Given the description of an element on the screen output the (x, y) to click on. 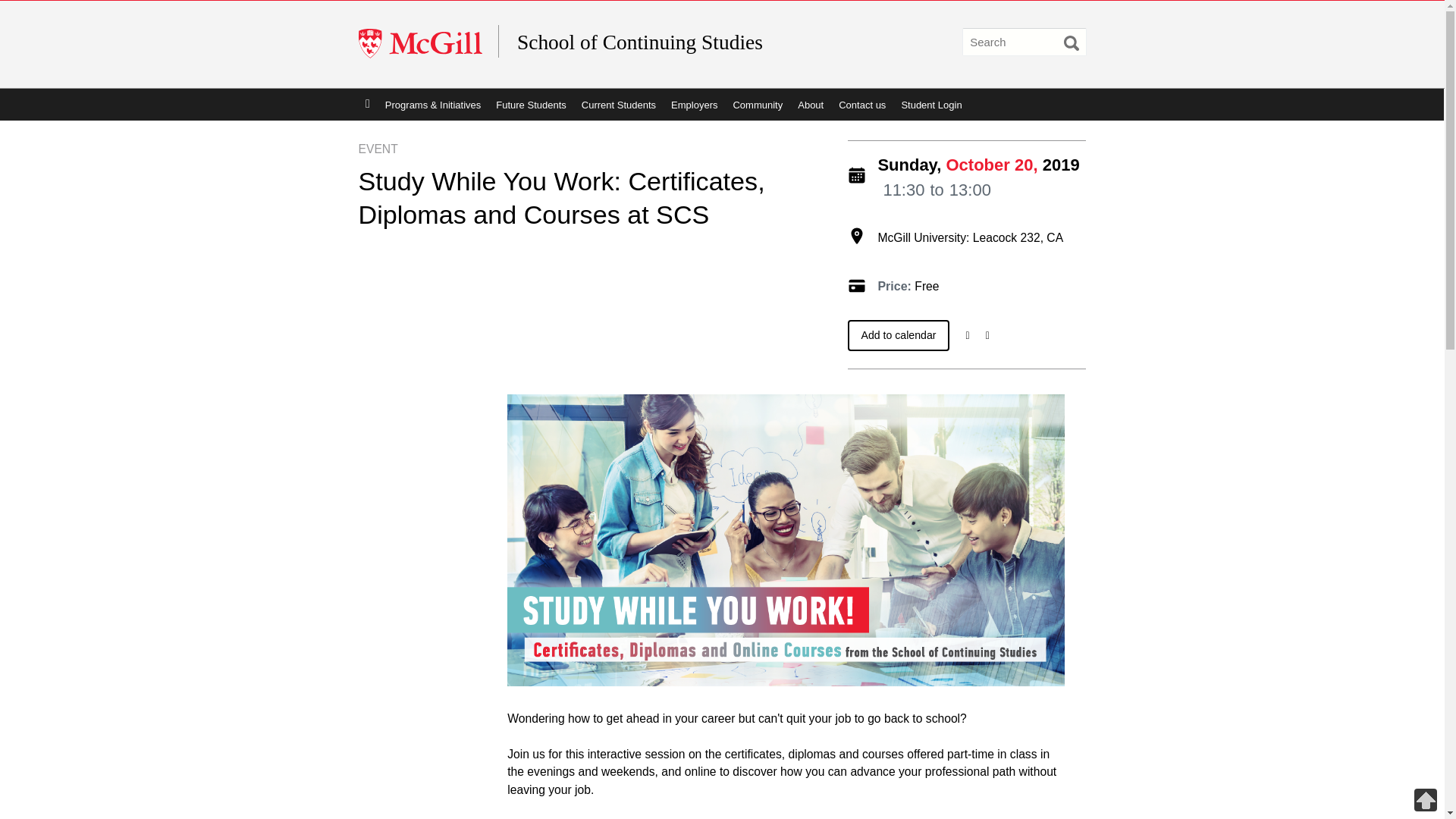
Community (757, 104)
School of Continuing Studies (664, 42)
return to McGill University (427, 44)
Search (1070, 42)
Current Students (618, 104)
McGill University (427, 44)
Employers (694, 104)
Add to calendar (898, 335)
Future Students (530, 104)
Search (1070, 42)
